Given the description of an element on the screen output the (x, y) to click on. 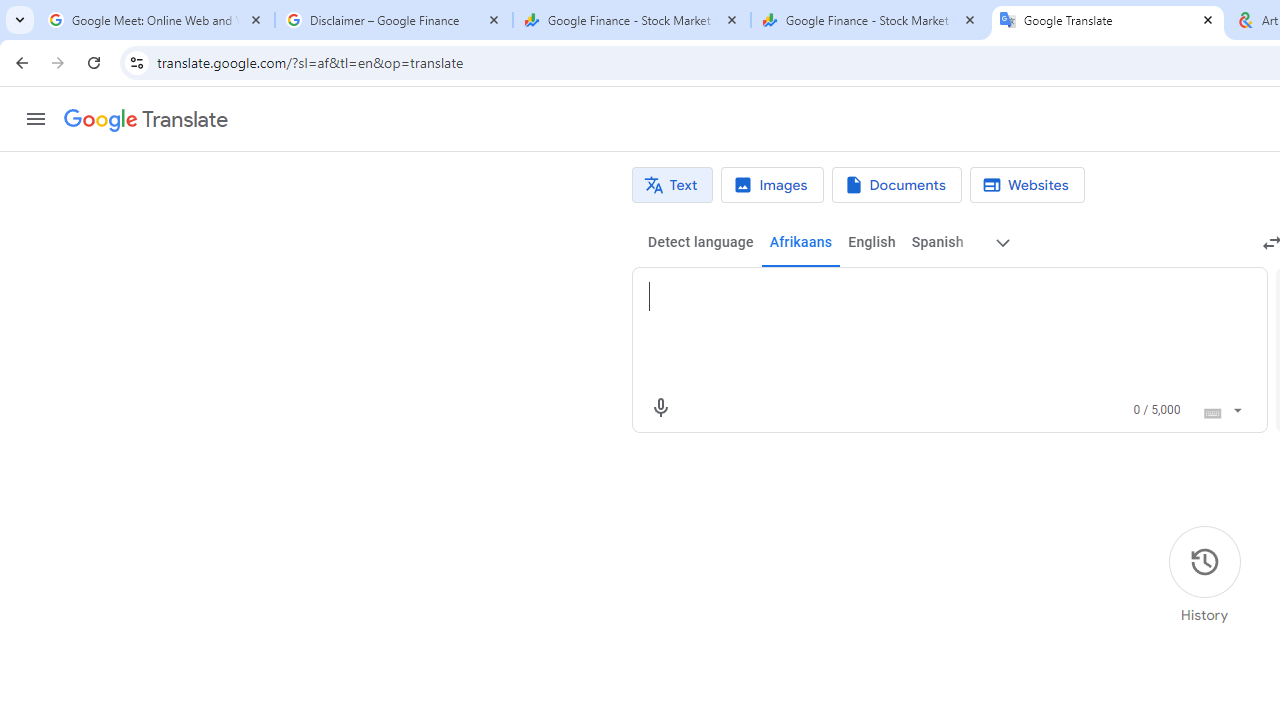
Undo Bullet Default (280, 31)
